Given the description of an element on the screen output the (x, y) to click on. 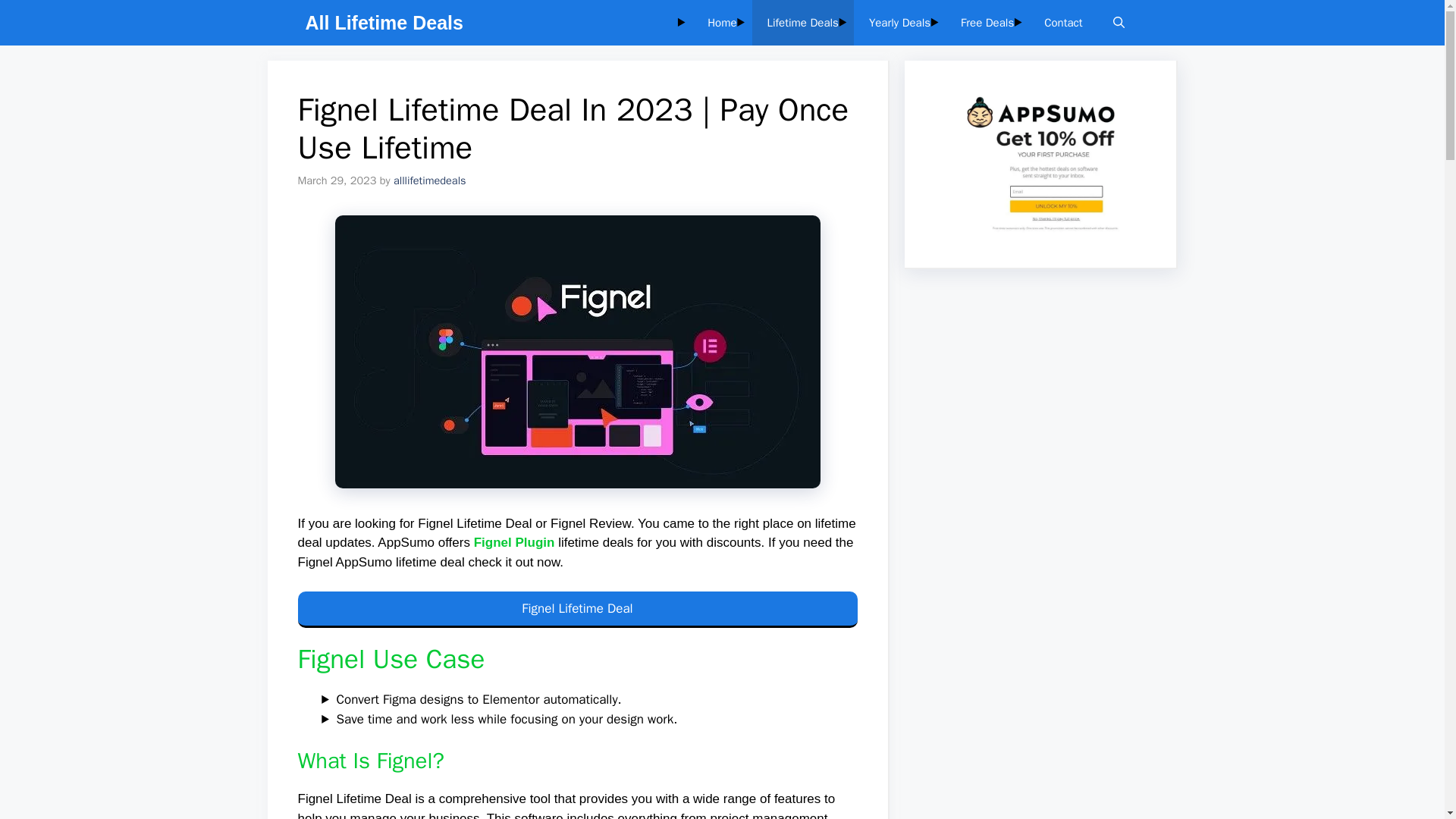
Fignel Lifetime Deal (577, 609)
Free Deals (986, 22)
View all posts by alllifetimedeals (429, 180)
alllifetimedeals (429, 180)
Home (722, 22)
Fignel Plugin (514, 542)
Lifetime Deals (802, 22)
Yearly Deals (898, 22)
All Lifetime Deals (383, 22)
Contact (1063, 22)
